Given the description of an element on the screen output the (x, y) to click on. 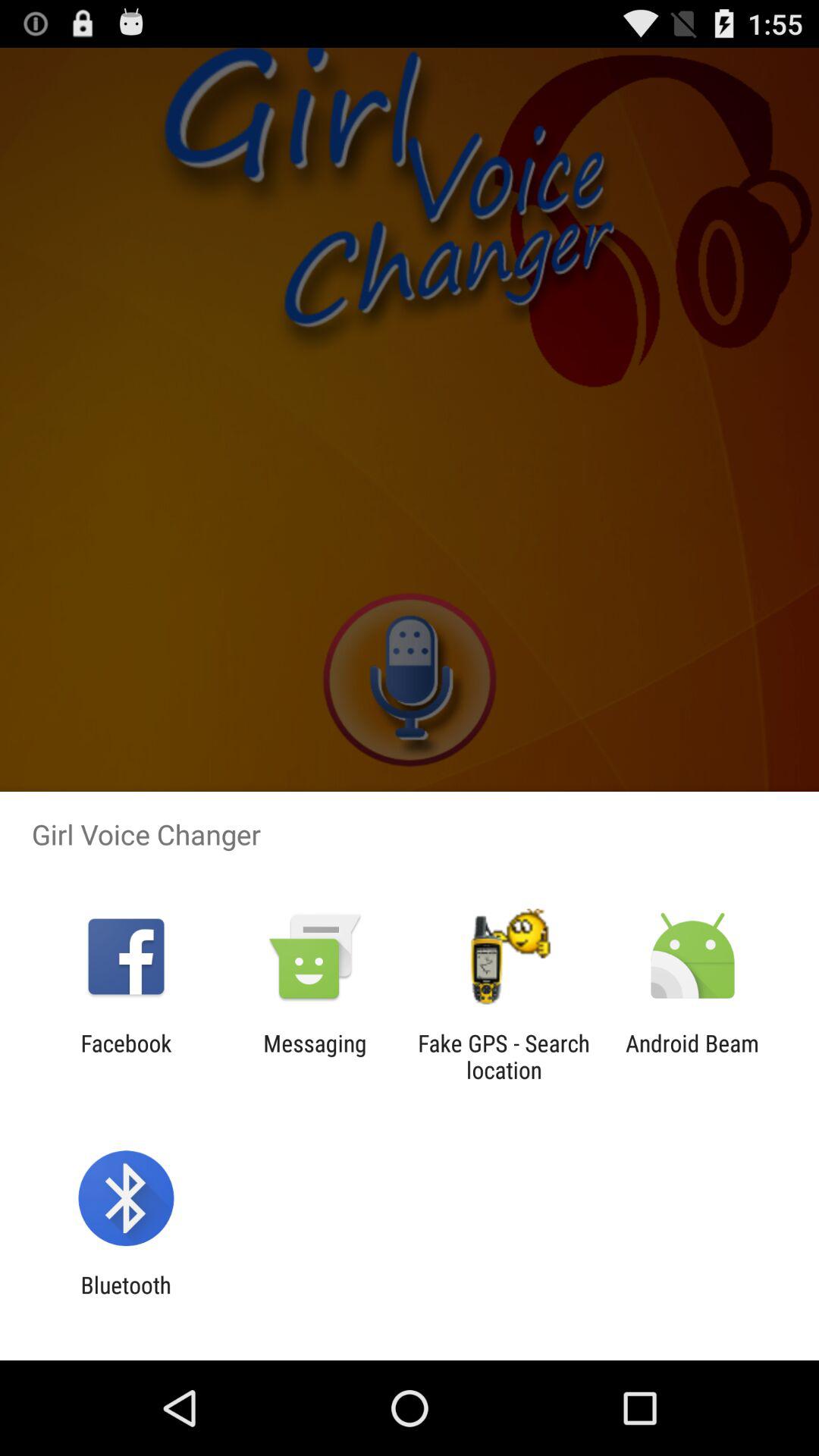
turn on android beam app (692, 1056)
